Given the description of an element on the screen output the (x, y) to click on. 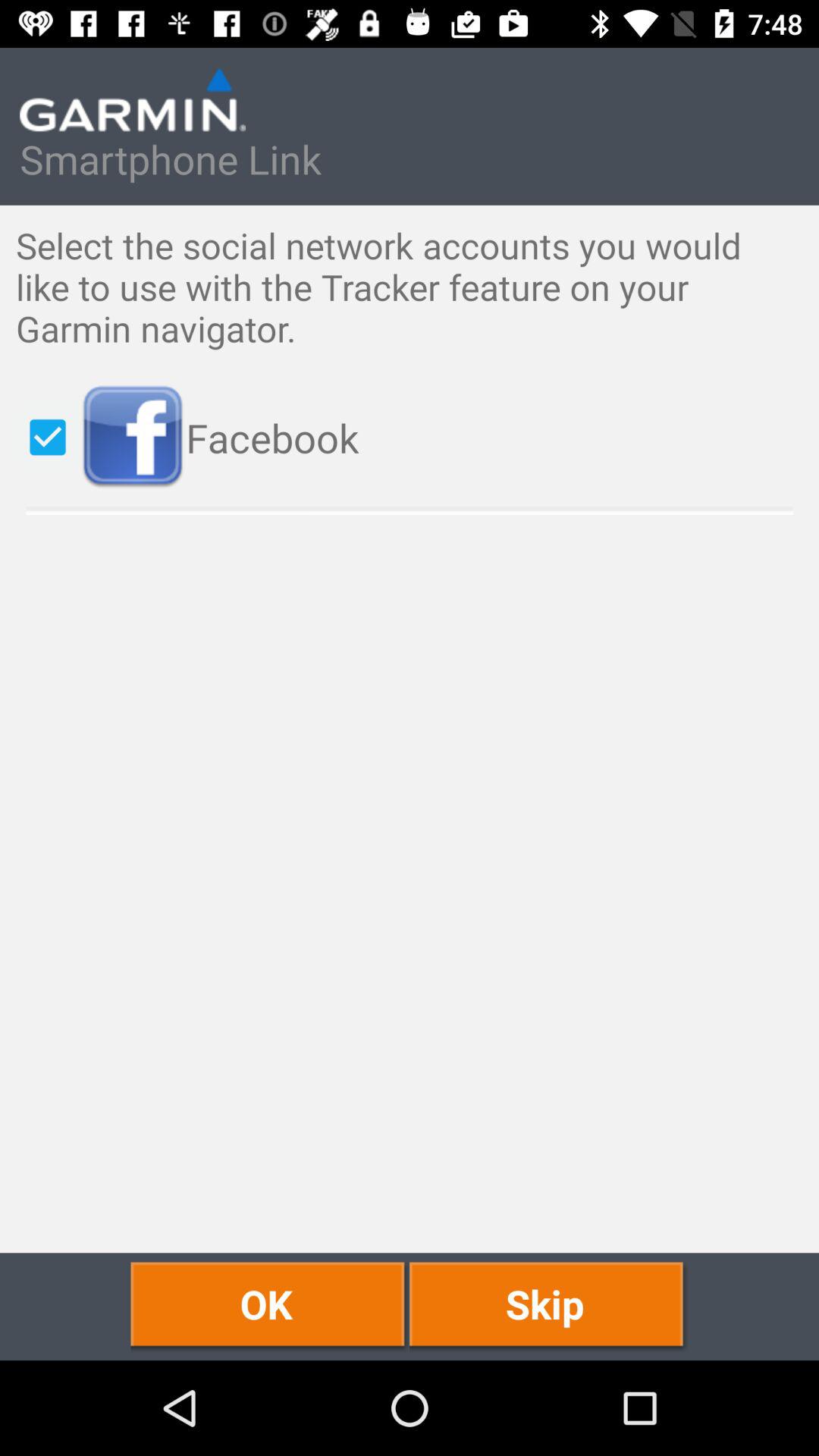
select icon to the left of the facebook (47, 437)
